Given the description of an element on the screen output the (x, y) to click on. 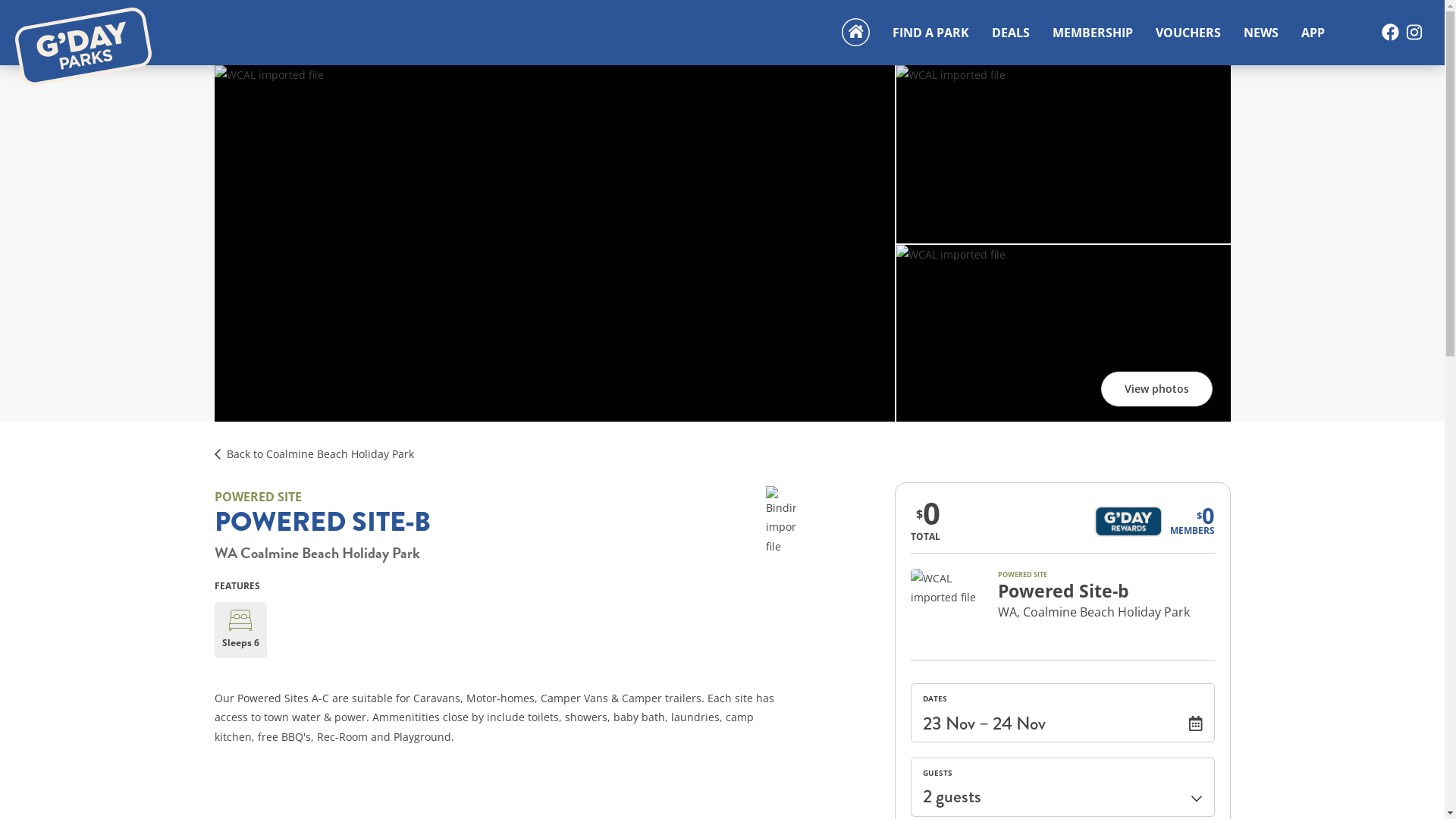
POWERED SITE
Powered Site-b
WA, Coalmine Beach Holiday Park Element type: text (1062, 614)
Back to Coalmine Beach Holiday Park Element type: text (319, 453)
DEALS Element type: text (1010, 32)
FIND A PARK Element type: text (930, 32)
View photos Element type: text (1156, 388)
NEWS Element type: text (1260, 32)
VOUCHERS Element type: text (1188, 32)
MEMBERSHIP Element type: text (1092, 32)
APP Element type: text (1312, 32)
